Given the description of an element on the screen output the (x, y) to click on. 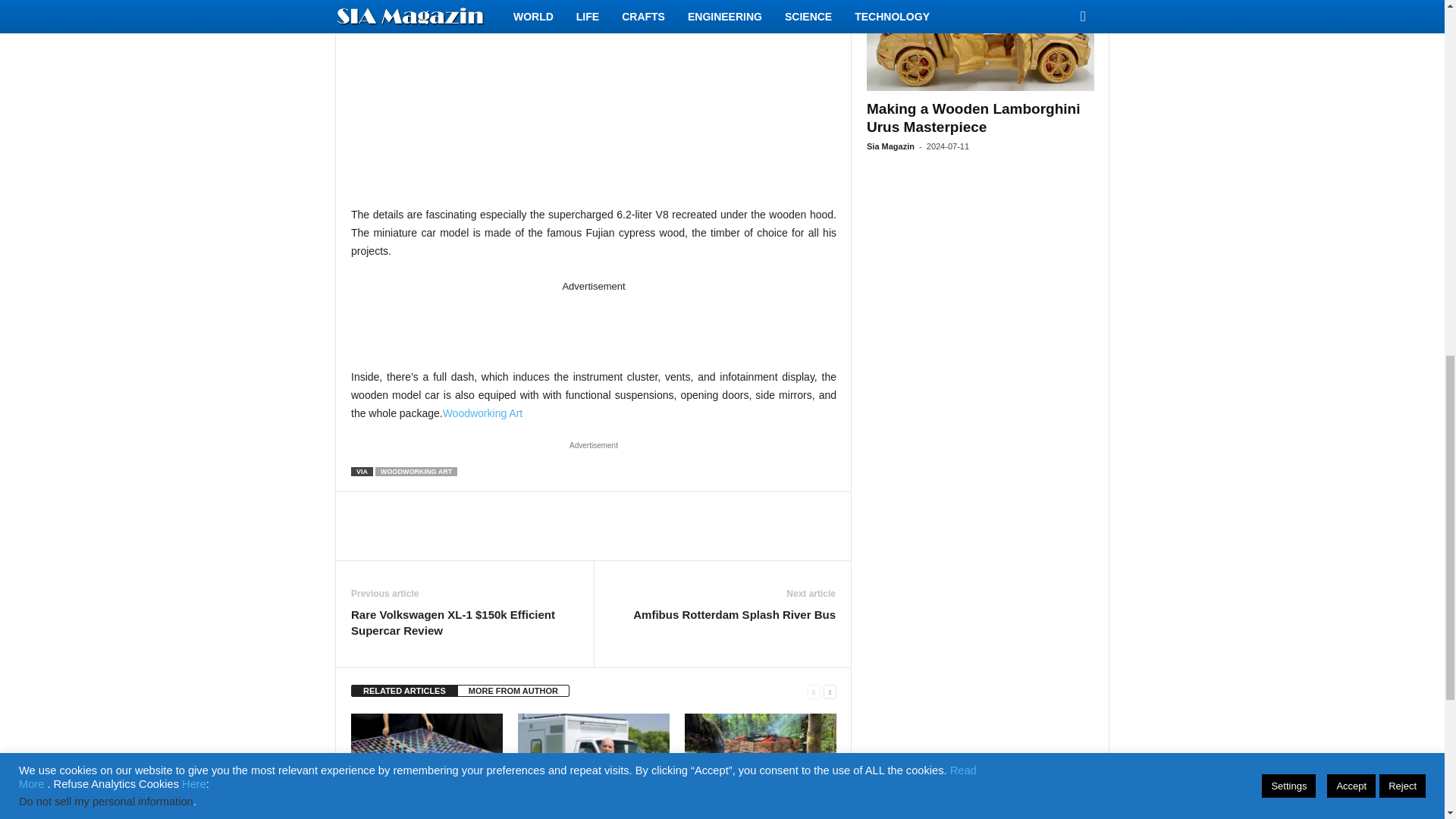
YouTube video player (592, 90)
MORE FROM AUTHOR (513, 690)
Woodworking Art (482, 413)
bottomFacebookLike (390, 507)
Amfibus Rotterdam Splash River Bus (734, 614)
RELATED ARTICLES (404, 690)
WOODWORKING ART (416, 470)
